Given the description of an element on the screen output the (x, y) to click on. 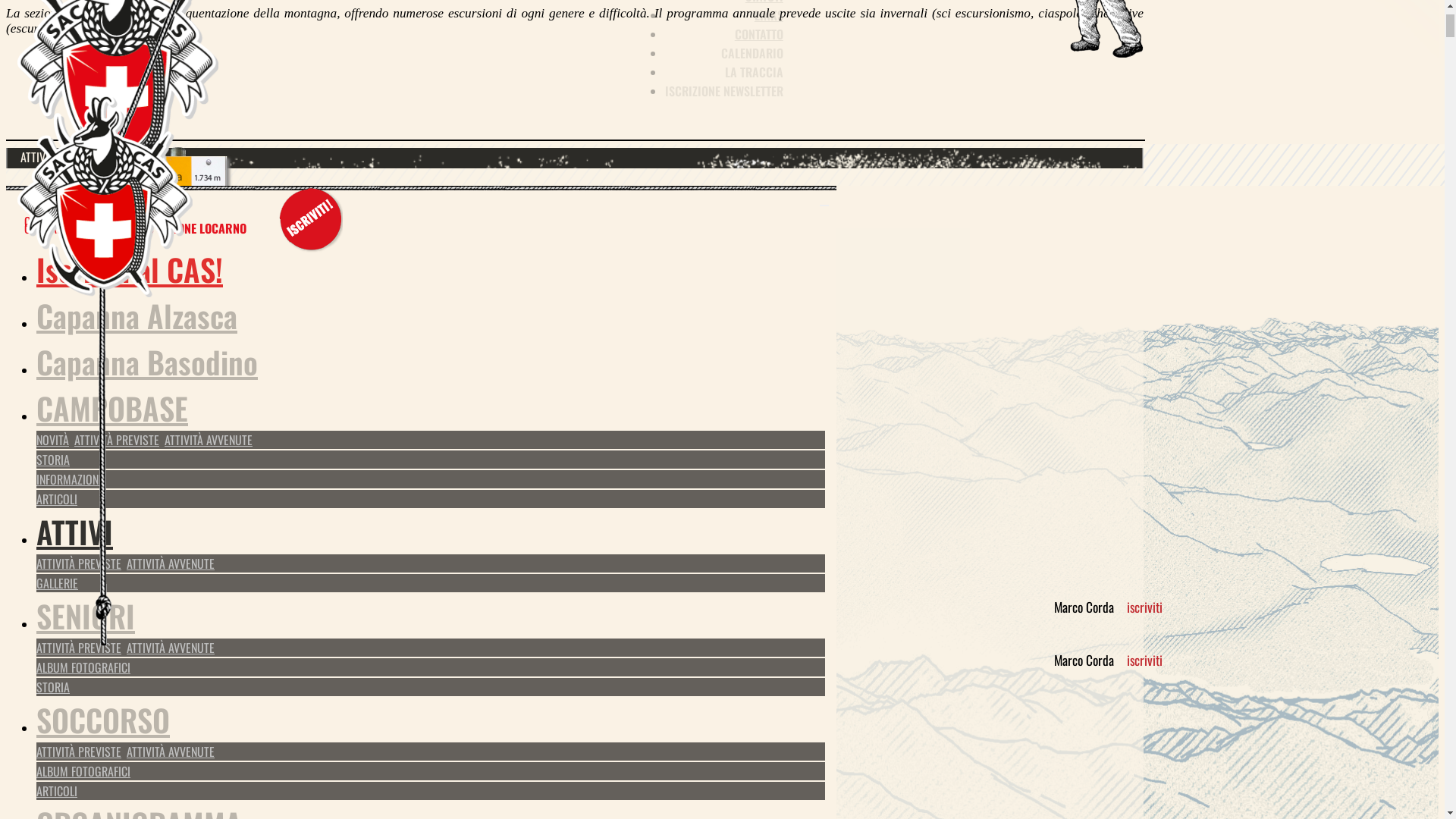
 Editoriale Element type: text (574, 196)
Iscriviti al CAS! Element type: text (129, 571)
ARTICOLI Element type: text (59, 801)
ORGANIGRAMMA Element type: text (742, 279)
CONTATTO Element type: text (758, 336)
CALENDARIO Element type: text (752, 355)
STATUTI Element type: text (764, 298)
LA TRACCIA Element type: text (753, 374)
CAMPOBASE Element type: text (112, 710)
Capanna Basodino Element type: text (146, 664)
LINKS Element type: text (768, 317)
STORIA Element type: text (55, 761)
1 Element type: text (41, 487)
2 Element type: text (41, 496)
ISCRIZIONE NEWSLETTER Element type: text (724, 393)
INFORMAZIONI Element type: text (71, 781)
Capanna Alzasca Element type: text (136, 617)
0 Element type: text (3, 306)
